Given the description of an element on the screen output the (x, y) to click on. 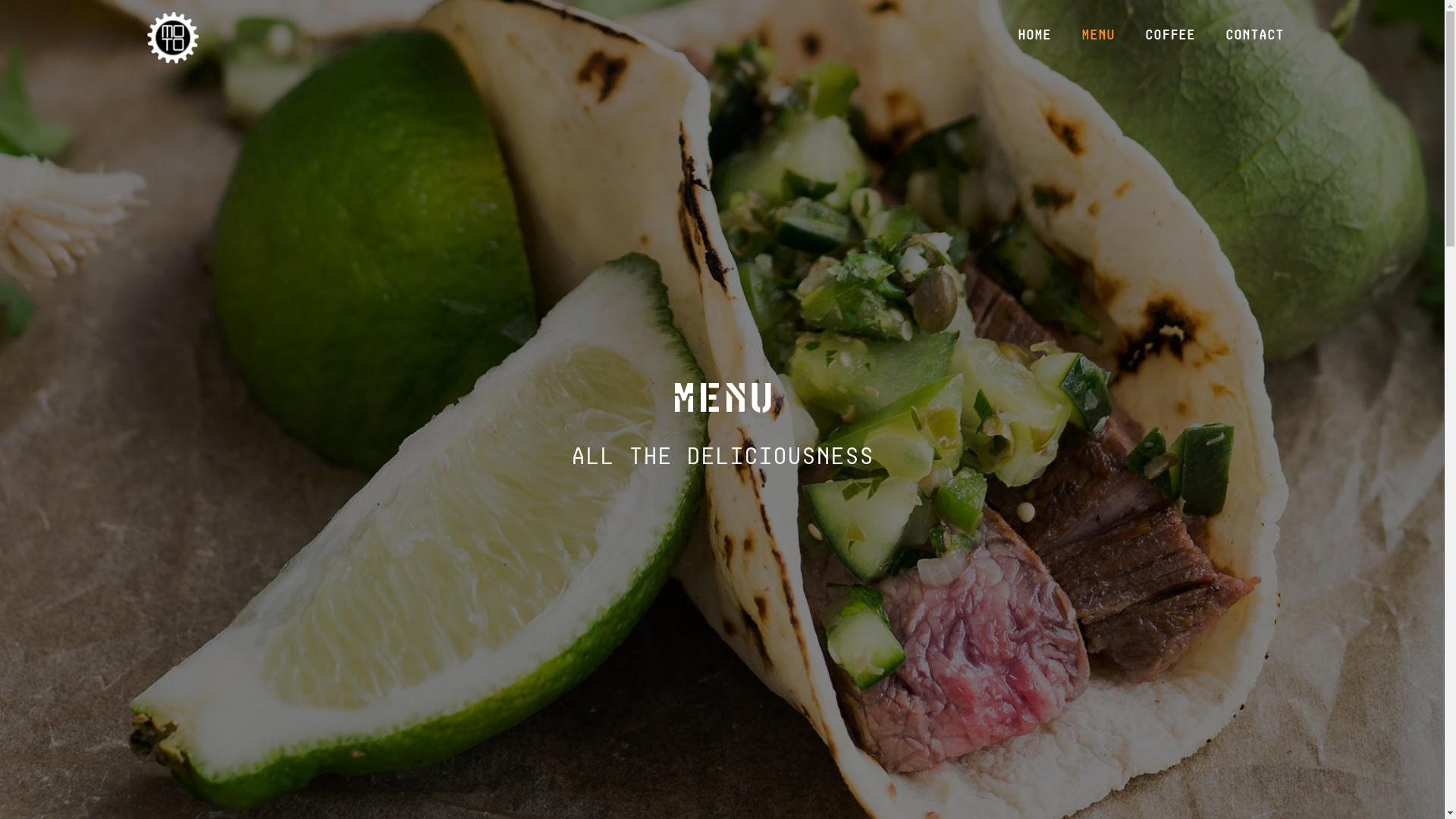
MENU Element type: text (1097, 33)
COFFEE Element type: text (1169, 33)
HOME Element type: text (1034, 33)
Contact Element type: text (1254, 33)
